Given the description of an element on the screen output the (x, y) to click on. 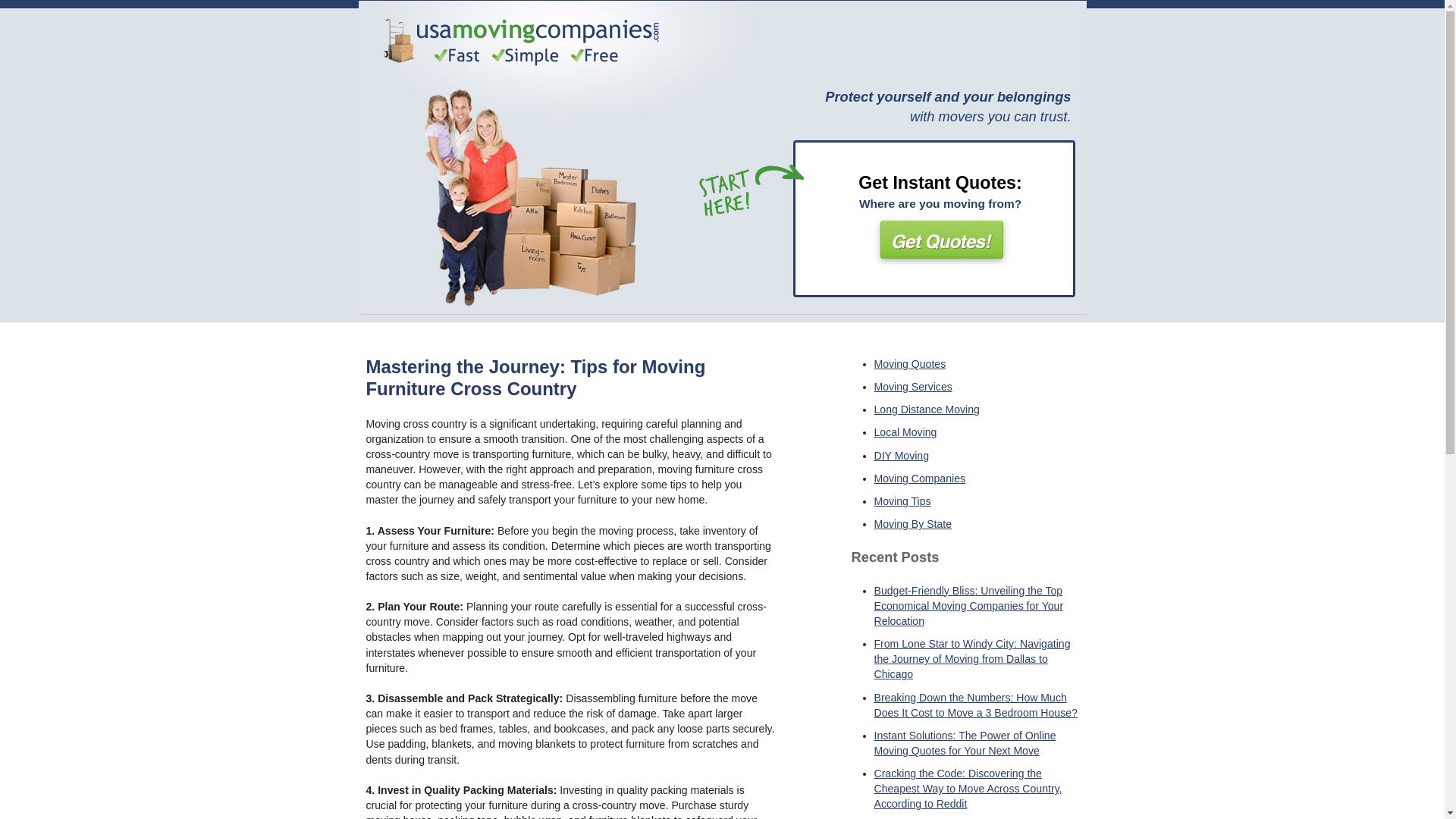
Moving Quotes (908, 363)
Moving Companies (919, 478)
Moving Services (912, 386)
Local Moving (904, 431)
Get Quotes (939, 238)
Moving By State (912, 523)
Long Distance Moving (925, 409)
DIY Moving (900, 455)
Moving Tips (901, 500)
